Given the description of an element on the screen output the (x, y) to click on. 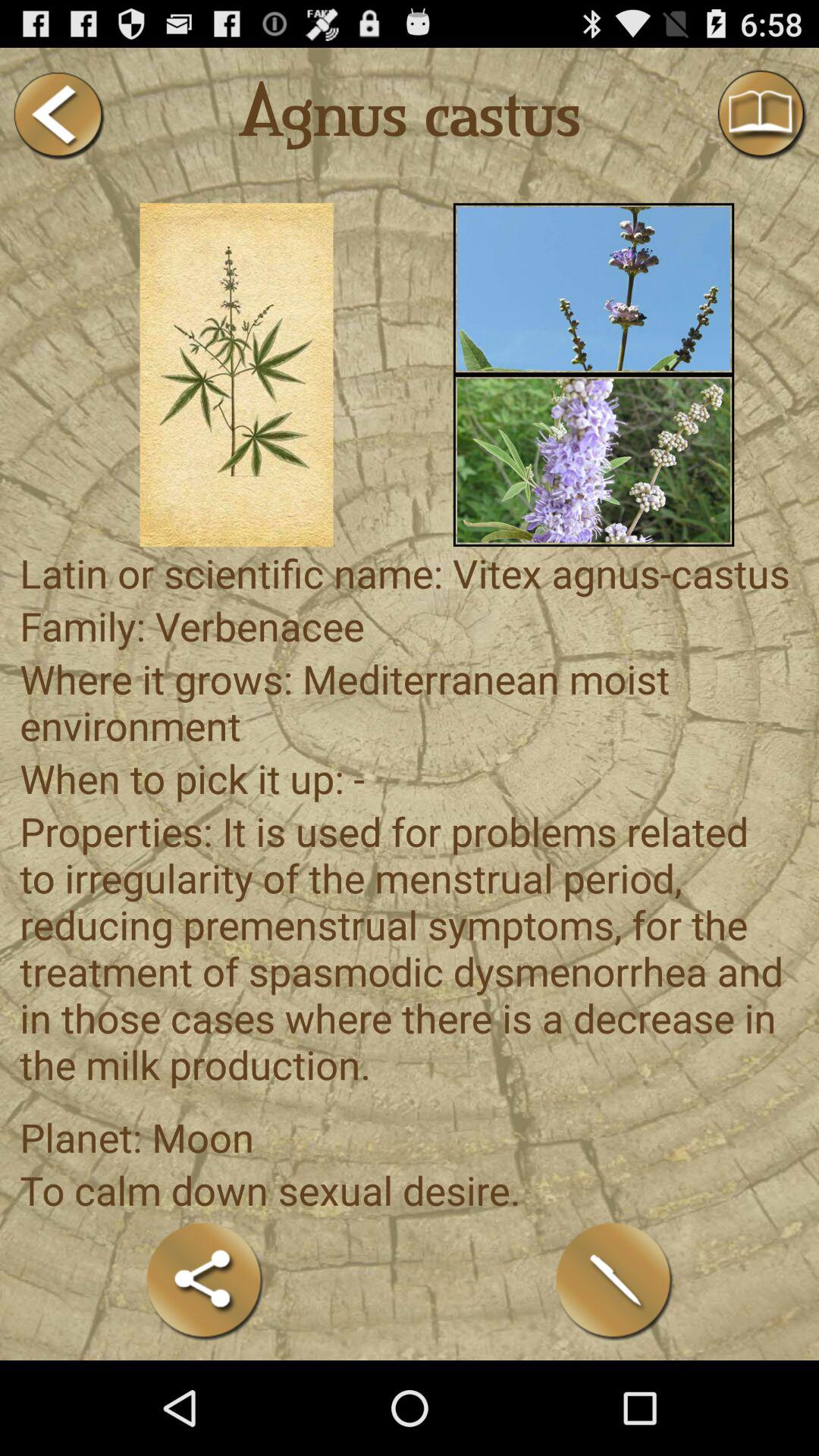
write a post (614, 1280)
